Given the description of an element on the screen output the (x, y) to click on. 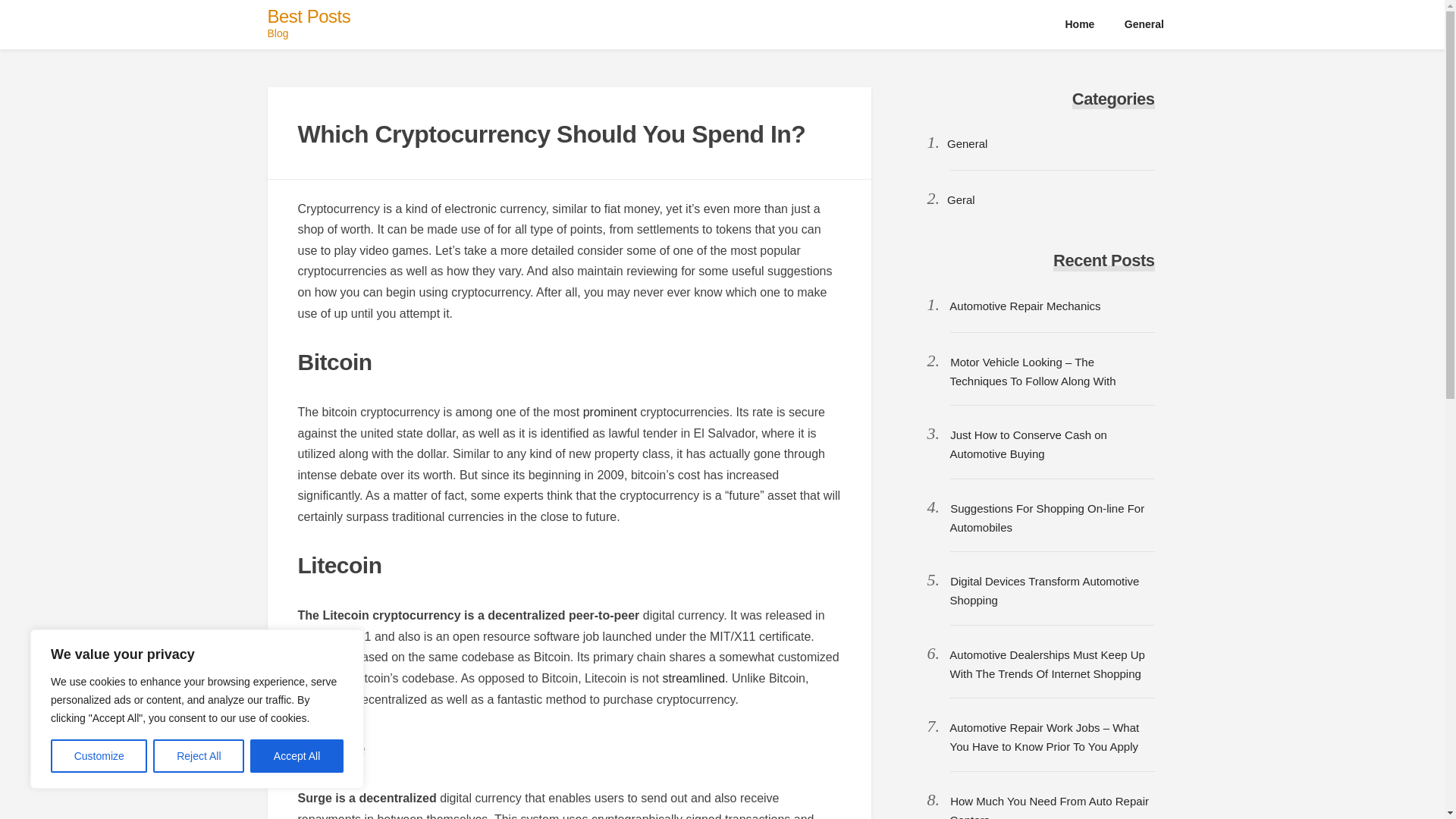
Suggestions For Shopping On-line For Automobiles (1046, 517)
How Much You Need From Auto Repair Centers (1048, 806)
Customize (98, 756)
prominent (610, 411)
Home (1079, 24)
General (1143, 24)
General (967, 143)
Reject All (198, 756)
Automotive Repair Mechanics (1024, 305)
Accept All (296, 756)
Geral (961, 199)
Digital Devices Transform Automotive Shopping (1043, 590)
Best Posts (308, 15)
streamlined (693, 677)
